Given the description of an element on the screen output the (x, y) to click on. 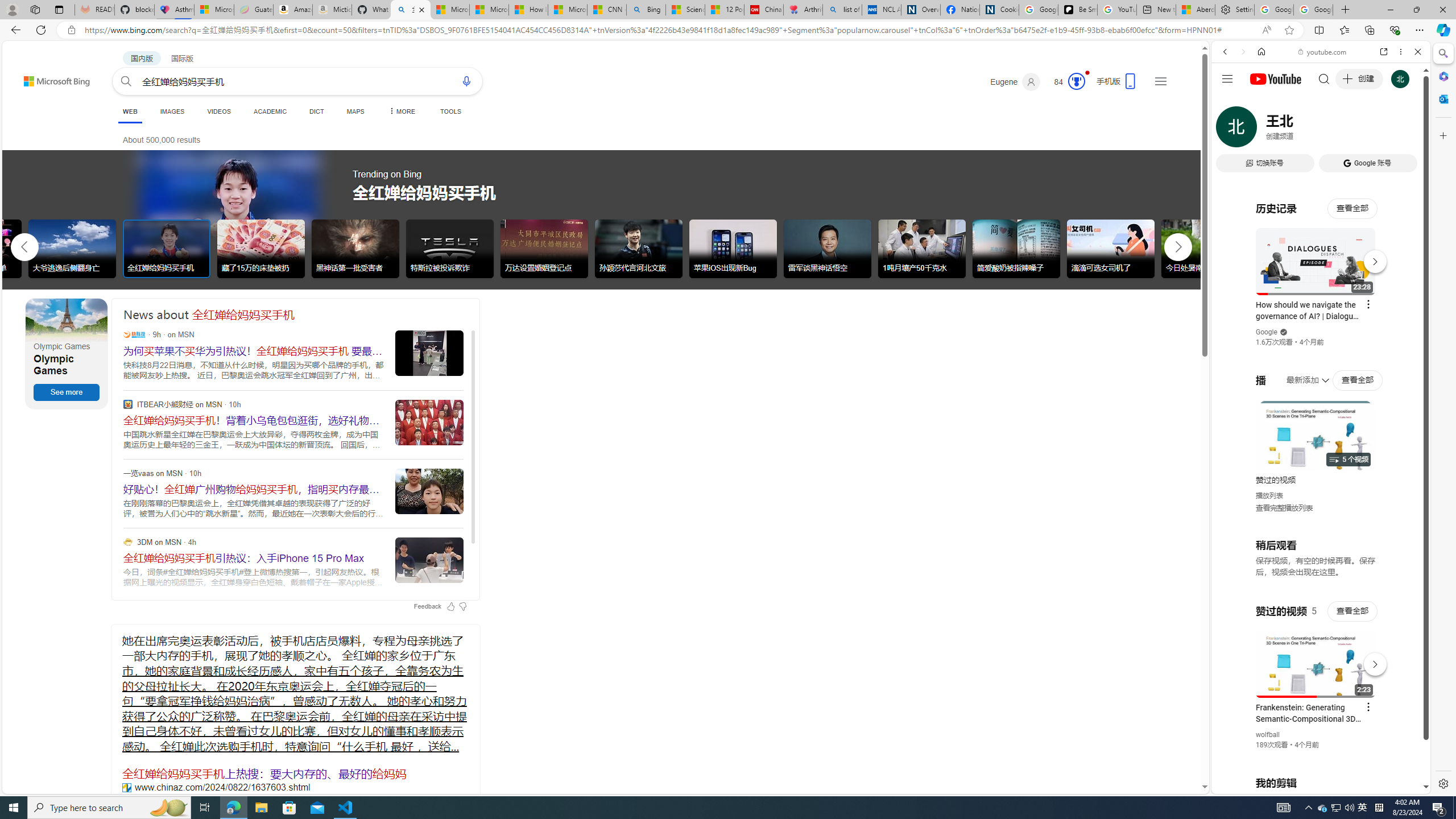
YouTube - YouTube (1315, 560)
VIDEOS (1300, 130)
Animation (1086, 72)
Google (1320, 281)
AutomationID: tob_left_arrow (24, 246)
